Given the description of an element on the screen output the (x, y) to click on. 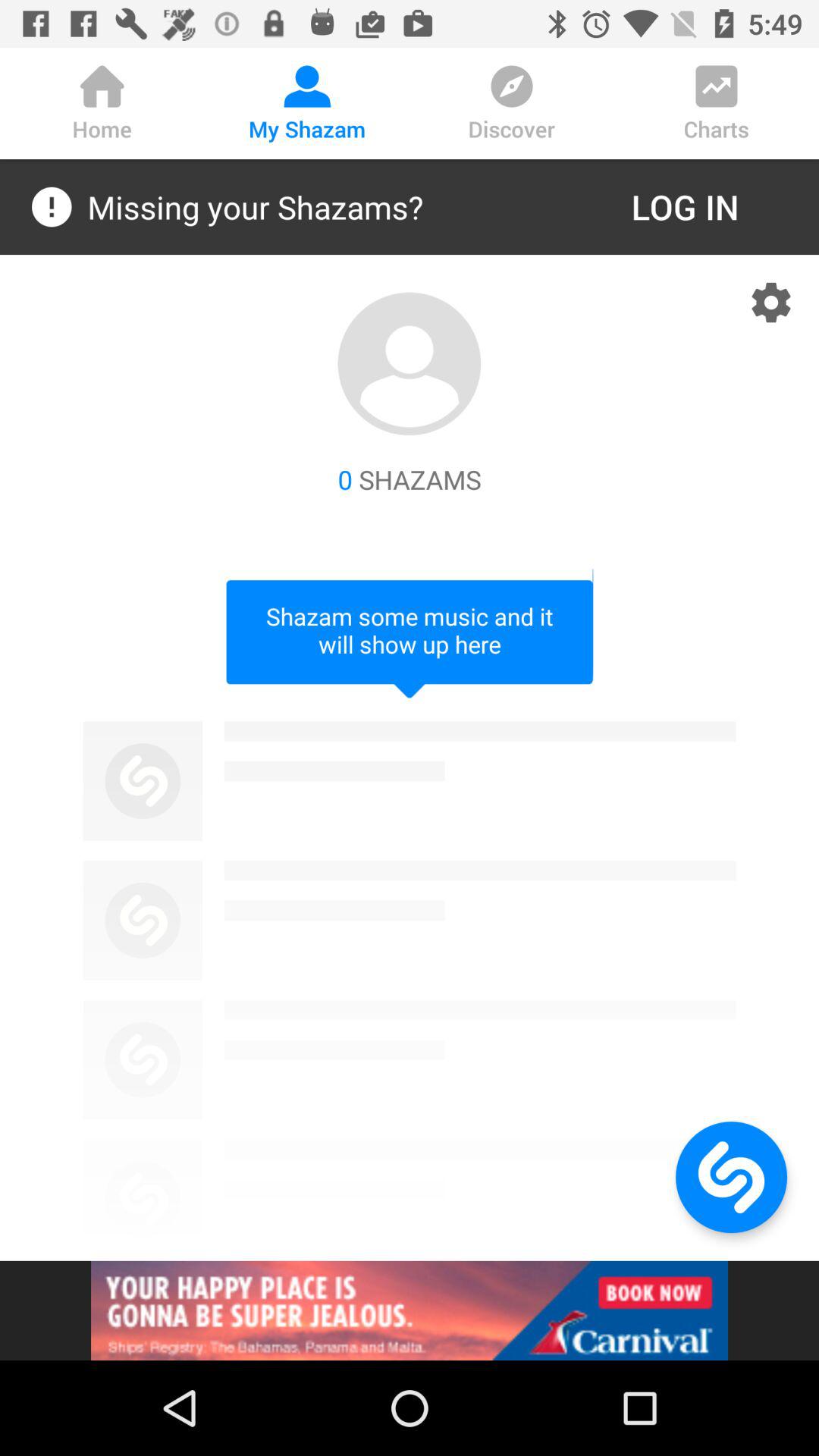
go to settings (771, 302)
